Given the description of an element on the screen output the (x, y) to click on. 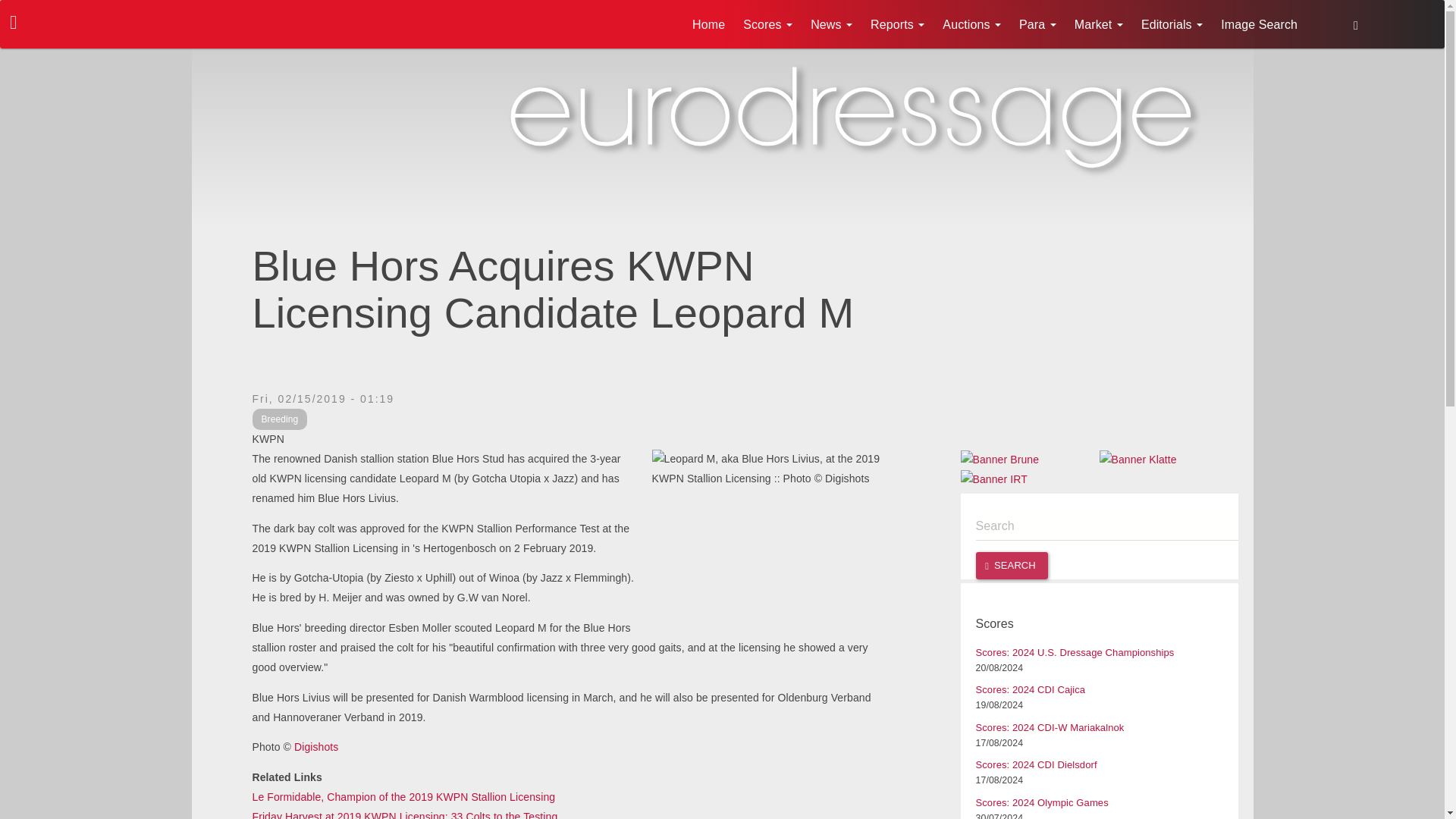
Auctions (971, 24)
News (831, 24)
Home (707, 24)
Enter the terms you wish to search for. (1106, 526)
Reports (897, 24)
Scores (767, 24)
